Given the description of an element on the screen output the (x, y) to click on. 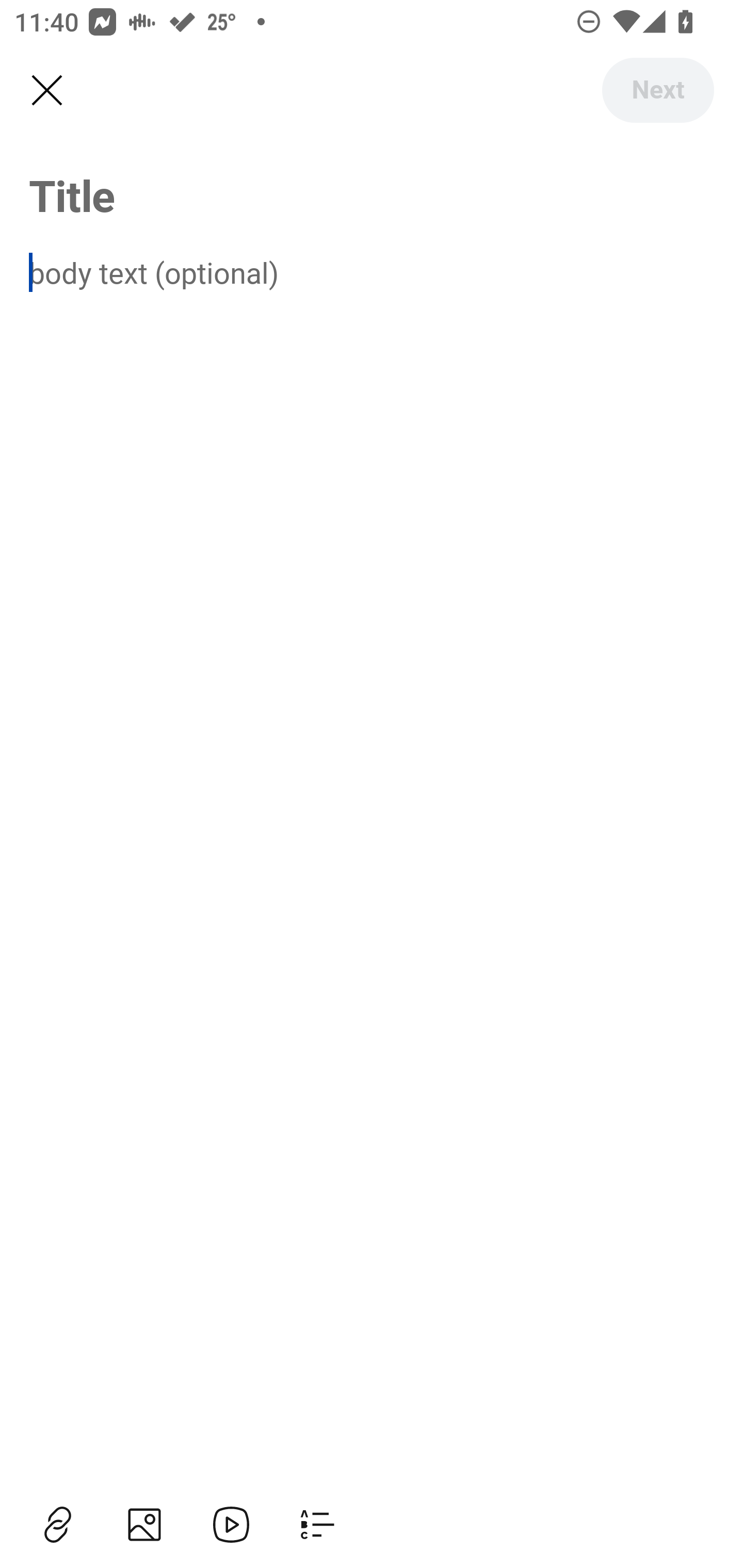
Close (46, 90)
Next (657, 90)
Post title (371, 195)
body text (optional) (371, 271)
